Given the description of an element on the screen output the (x, y) to click on. 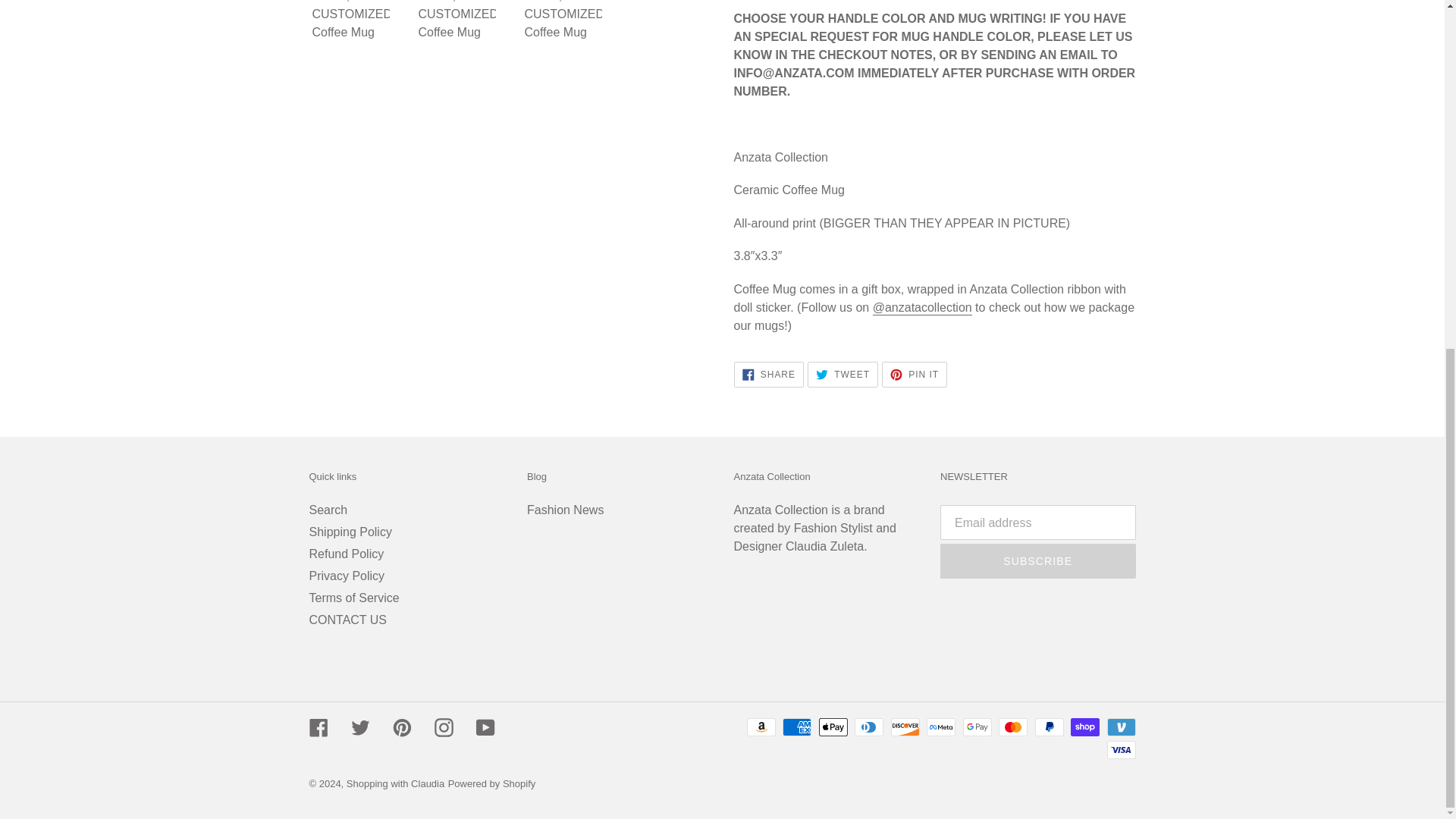
PayPal (1049, 727)
All Collections (780, 509)
Amazon (768, 374)
Diners Club (761, 727)
Meta Pay (868, 727)
Discover (842, 374)
Apple Pay (940, 727)
American Express (905, 727)
